Given the description of an element on the screen output the (x, y) to click on. 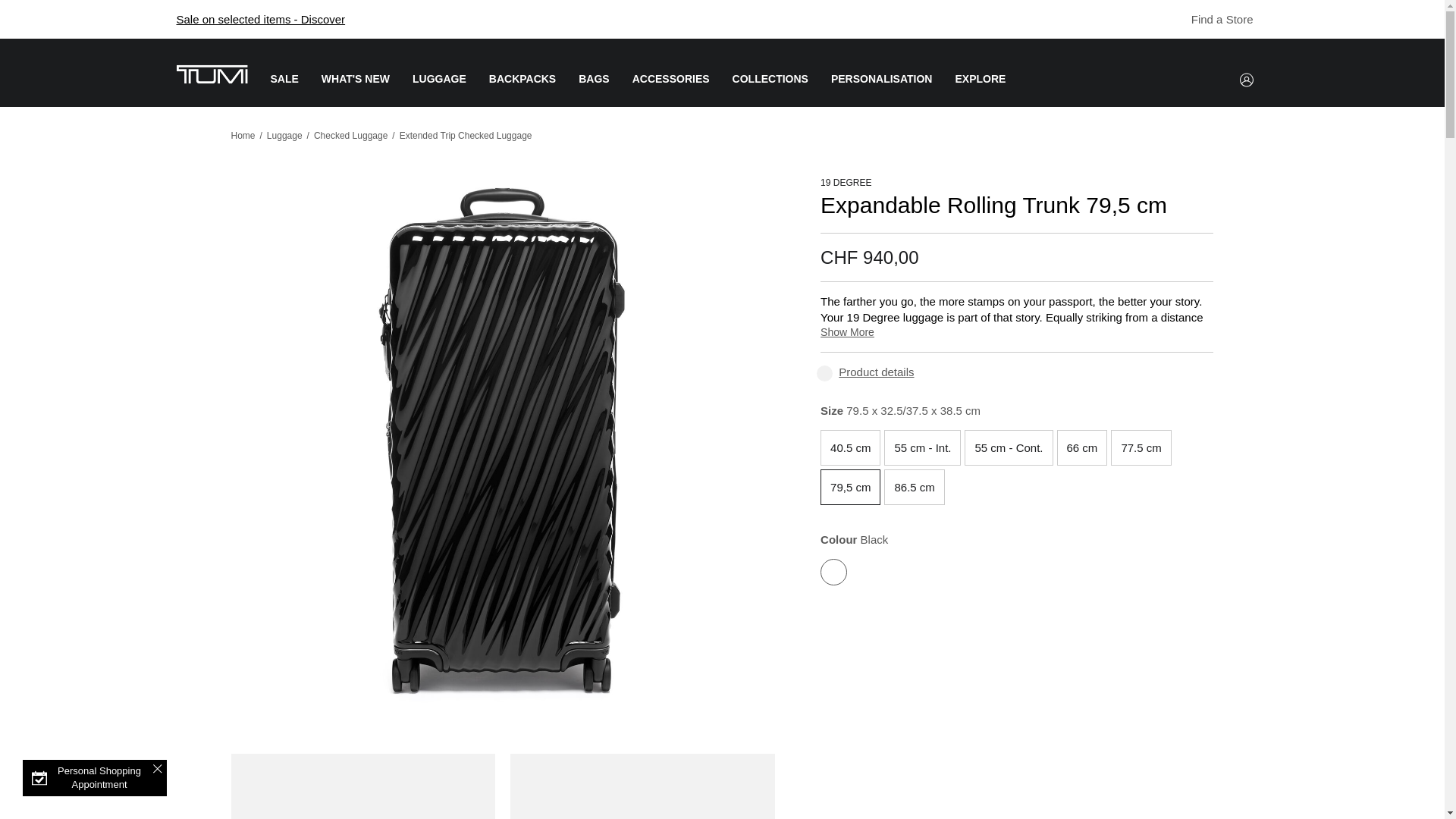
BACKPACKS (522, 90)
Find a Store (1181, 20)
Find a Store (1213, 19)
Sale on selected items - Discover (260, 19)
WHAT'S NEW (355, 90)
LUGGAGE (438, 90)
